Given the description of an element on the screen output the (x, y) to click on. 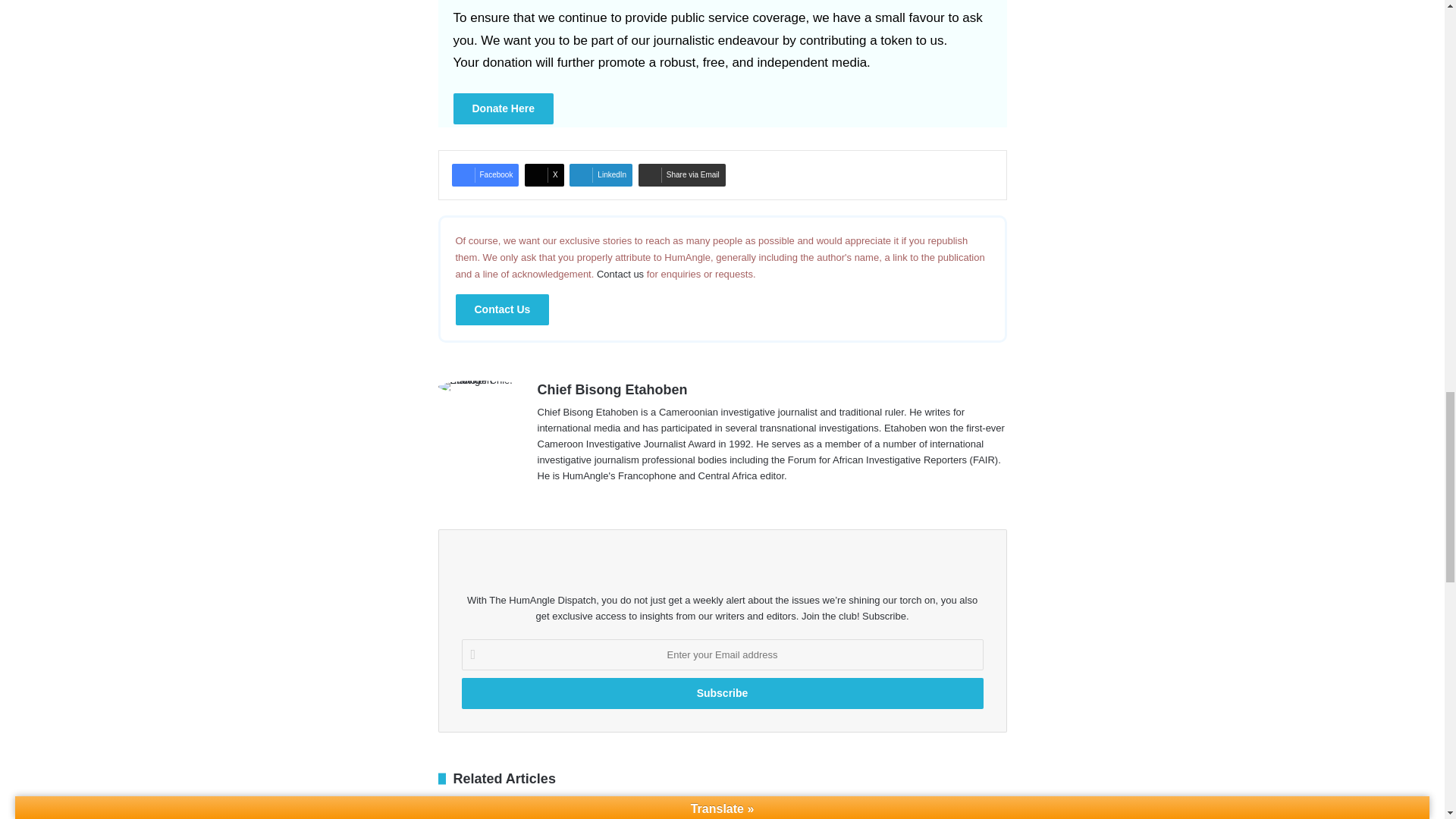
Subscribe (721, 693)
